Given the description of an element on the screen output the (x, y) to click on. 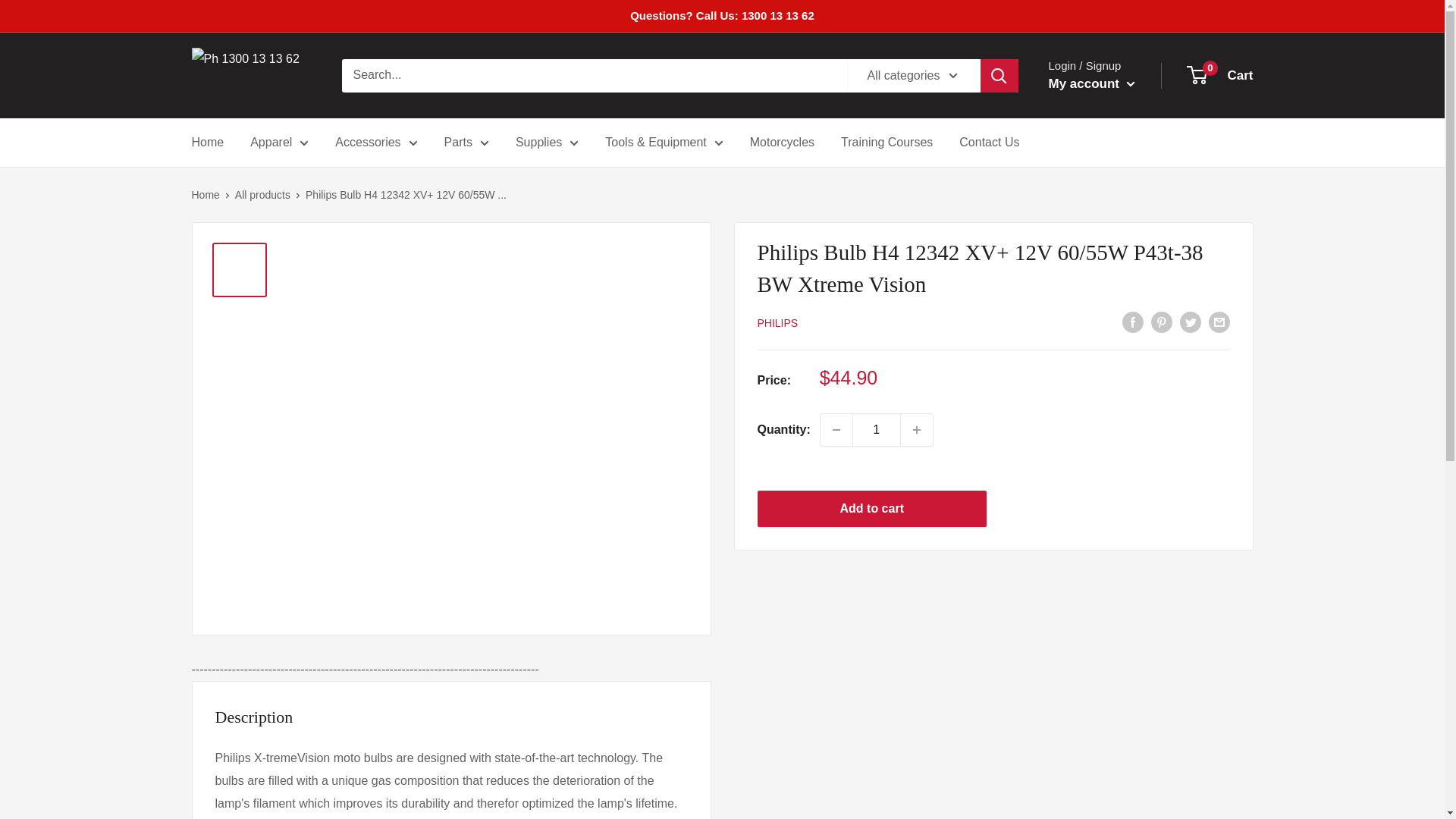
Questions? Call Us: 1300 13 13 62 (721, 15)
1 (876, 429)
Increase quantity by 1 (917, 429)
Decrease quantity by 1 (836, 429)
